Given the description of an element on the screen output the (x, y) to click on. 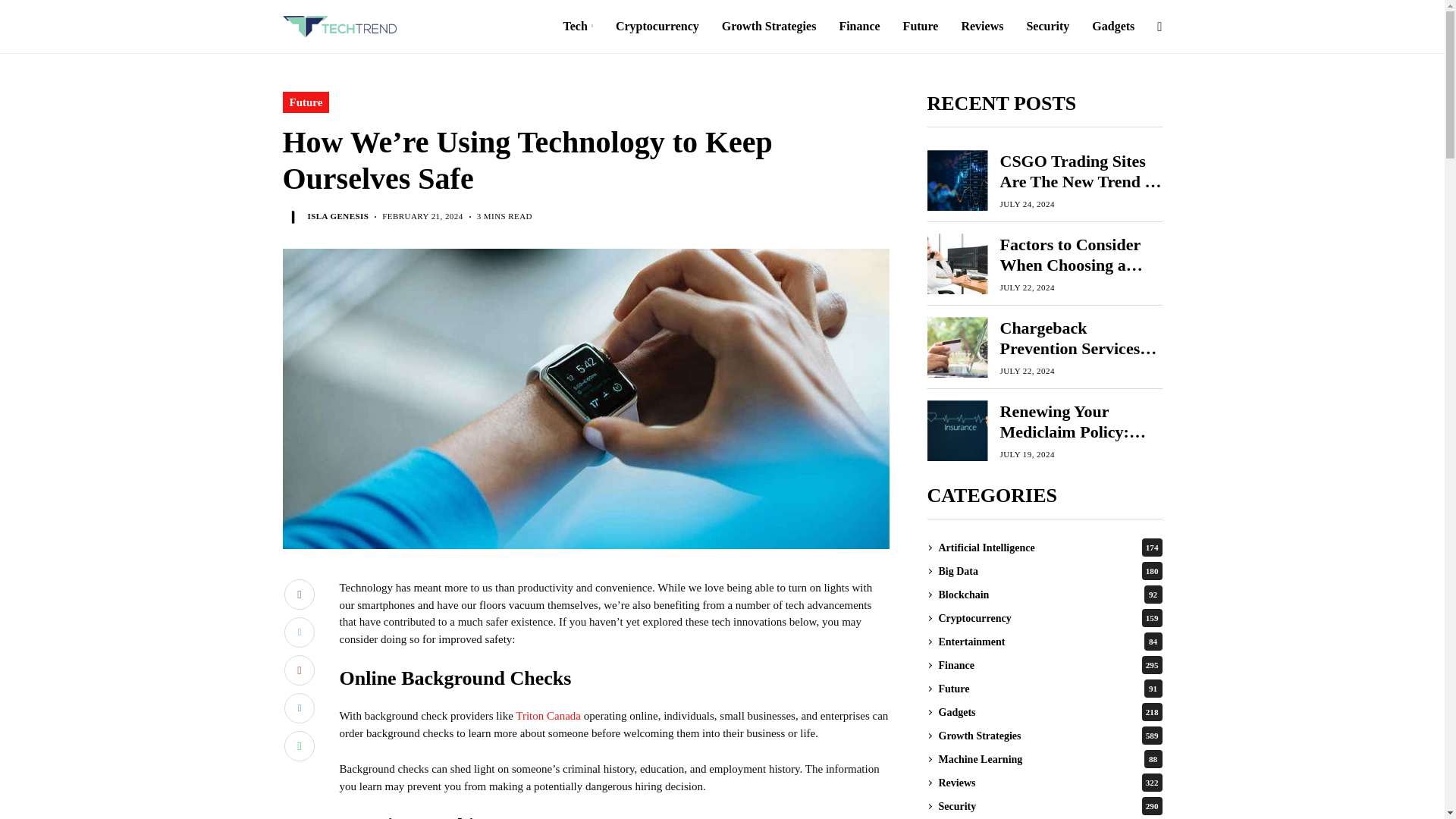
Cryptocurrency (656, 26)
Posts by Isla Genesis (338, 216)
Growth Strategies (769, 26)
